Given the description of an element on the screen output the (x, y) to click on. 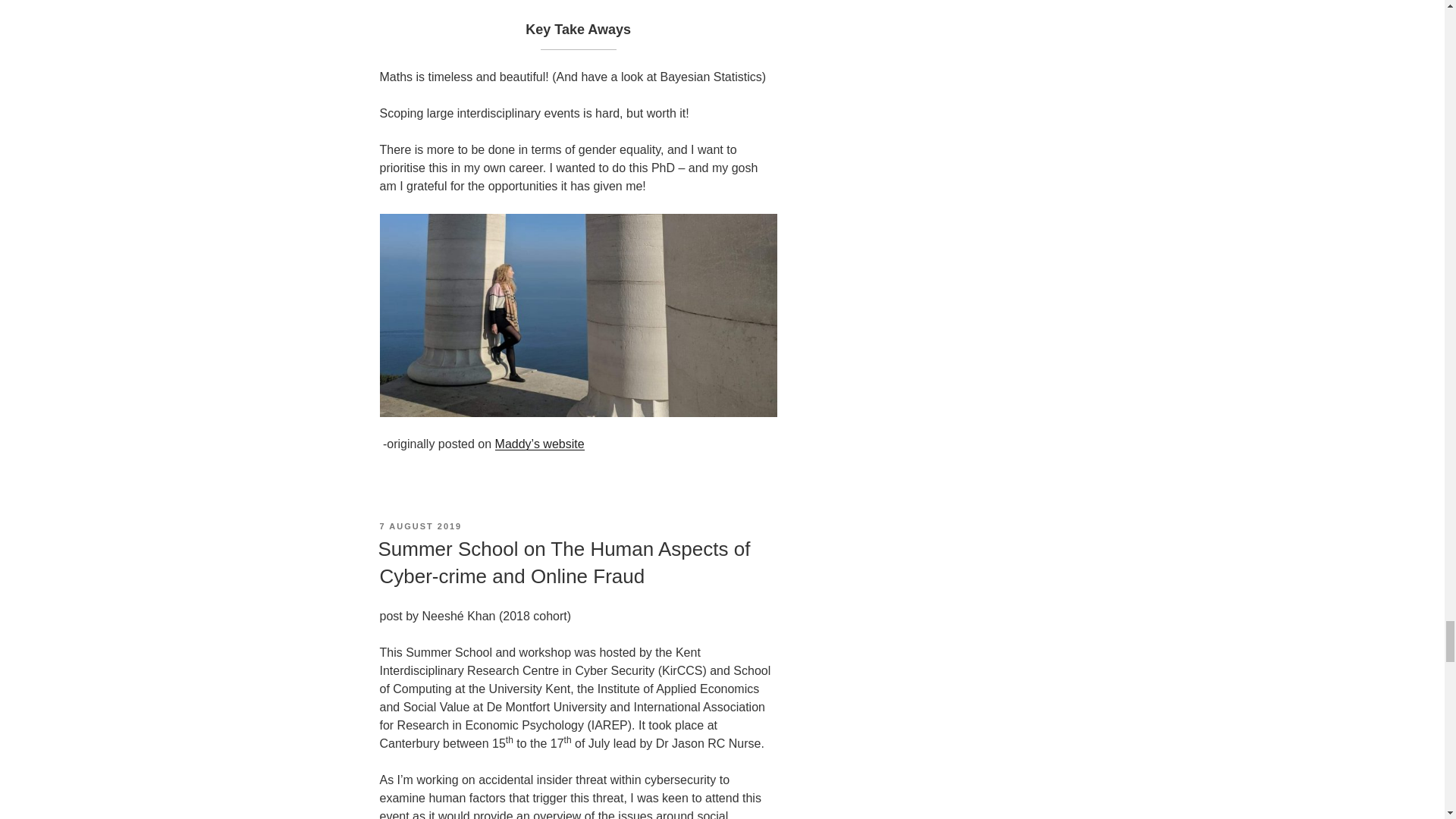
7 AUGUST 2019 (419, 525)
